Given the description of an element on the screen output the (x, y) to click on. 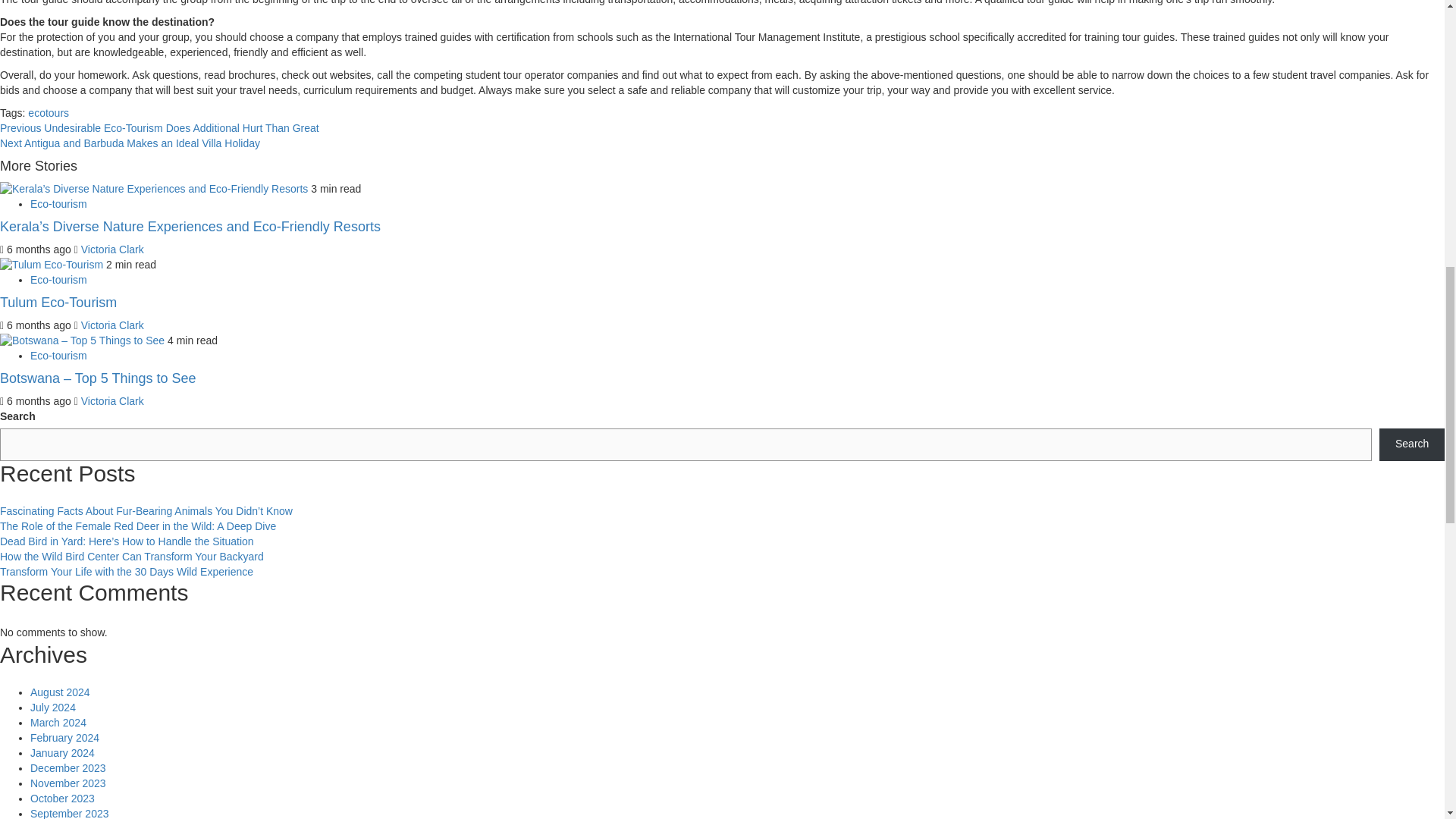
ecotours (47, 112)
Victoria Clark (112, 249)
Eco-tourism (58, 279)
Victoria Clark (112, 400)
Tulum Eco-Tourism (51, 264)
Eco-tourism (58, 203)
Next Antigua and Barbuda Makes an Ideal Villa Holiday (130, 143)
Tulum Eco-Tourism (58, 302)
Victoria Clark (112, 325)
